Given the description of an element on the screen output the (x, y) to click on. 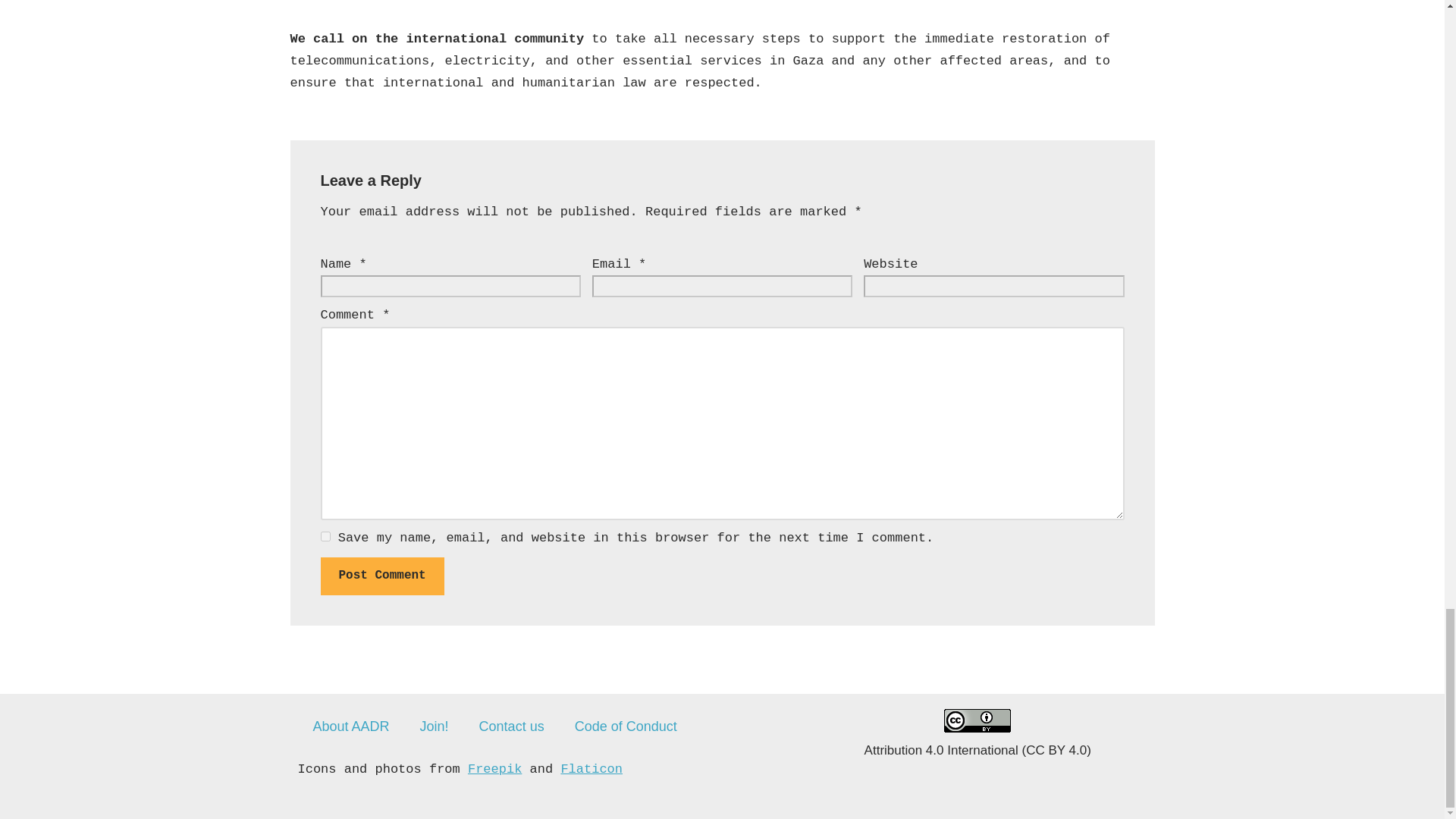
yes (325, 536)
Post Comment (382, 576)
